Given the description of an element on the screen output the (x, y) to click on. 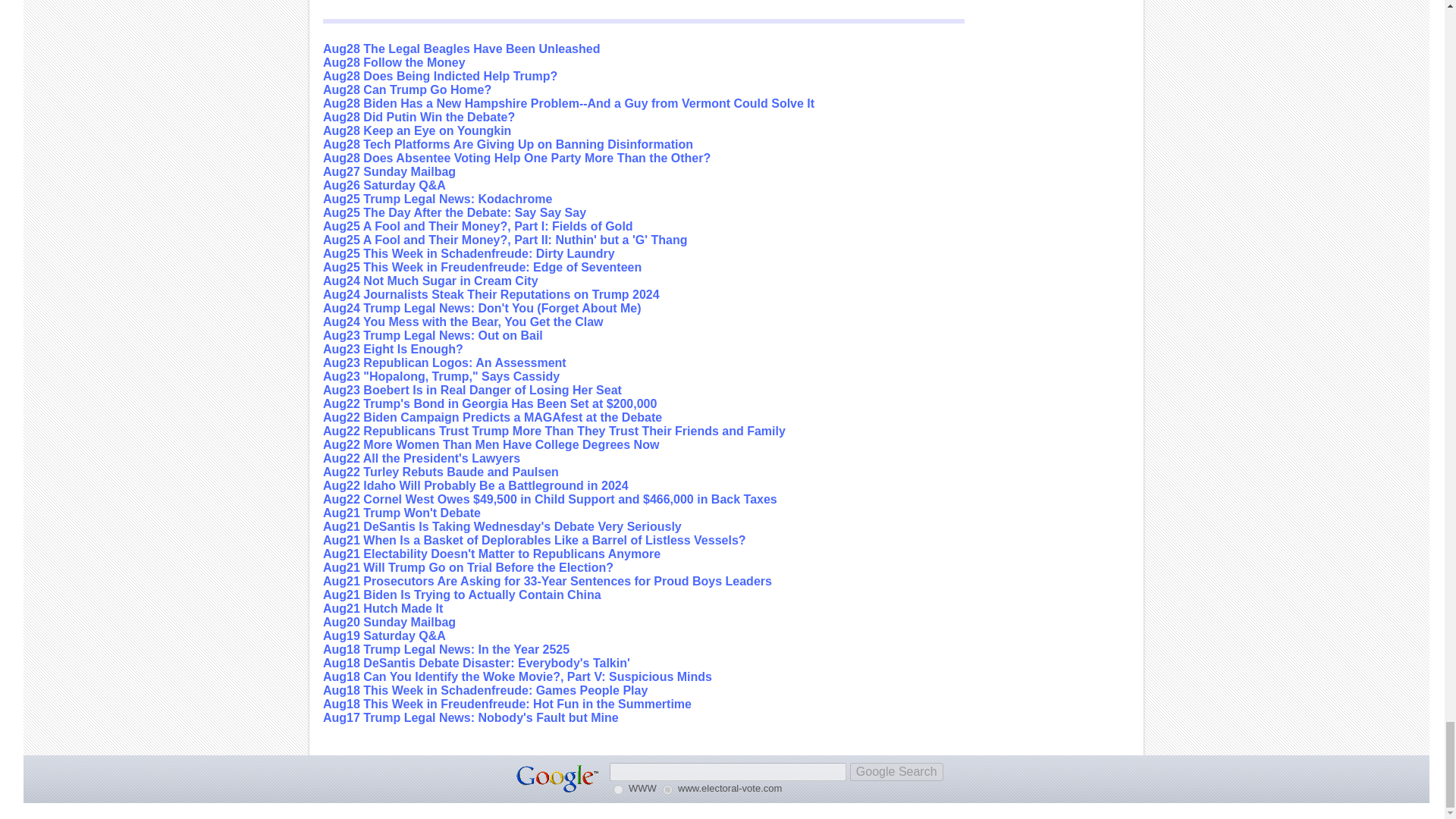
Google Search (896, 771)
www.electoral-vote.com (667, 789)
